Given the description of an element on the screen output the (x, y) to click on. 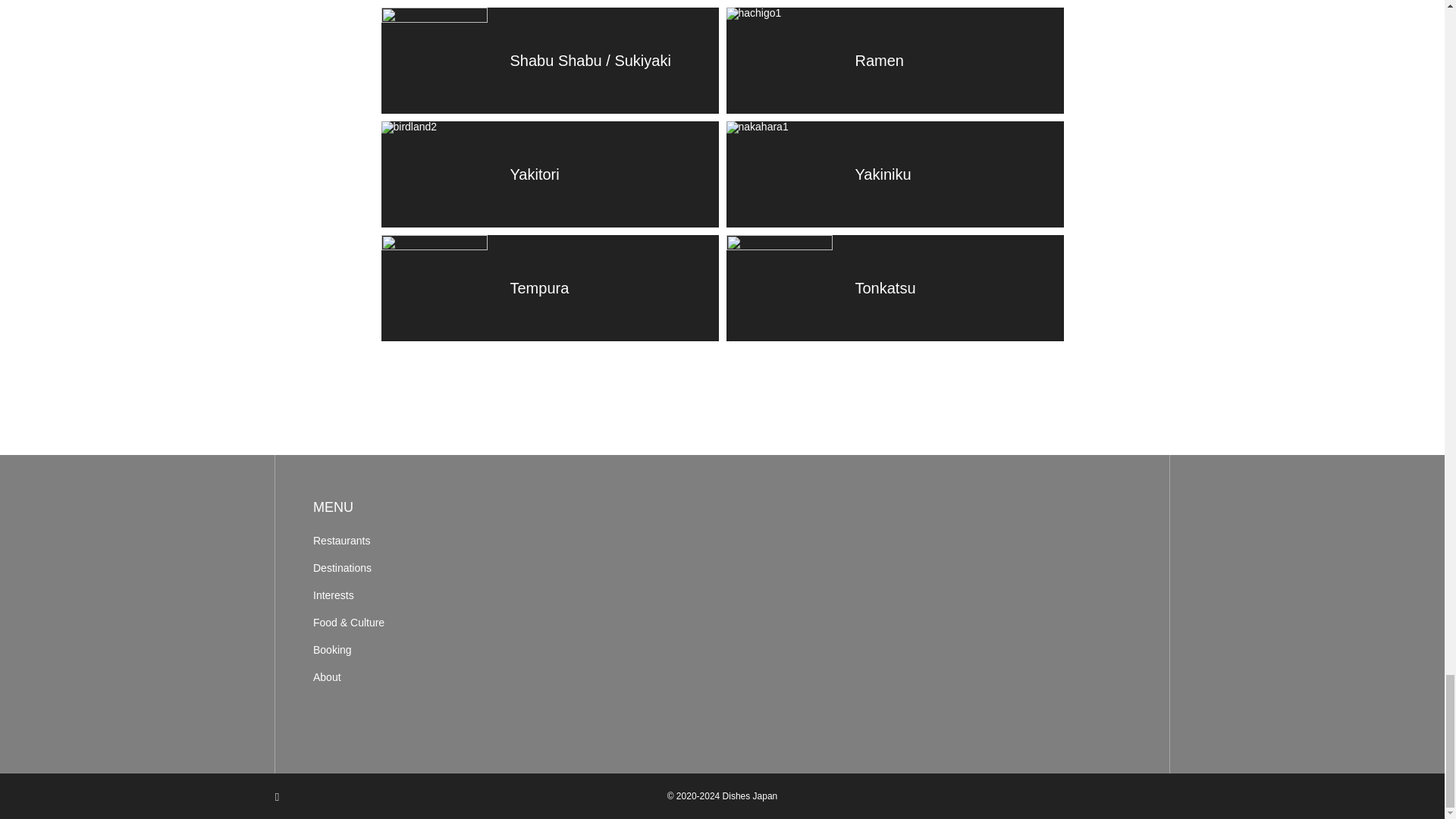
Tempura (548, 288)
Yakiniku (895, 174)
Tonkatsu (895, 288)
Restaurants (424, 540)
Ramen (895, 60)
Booking (424, 650)
Destinations (424, 568)
Interests (424, 595)
Yakitori (548, 174)
RSS (277, 795)
